Given the description of an element on the screen output the (x, y) to click on. 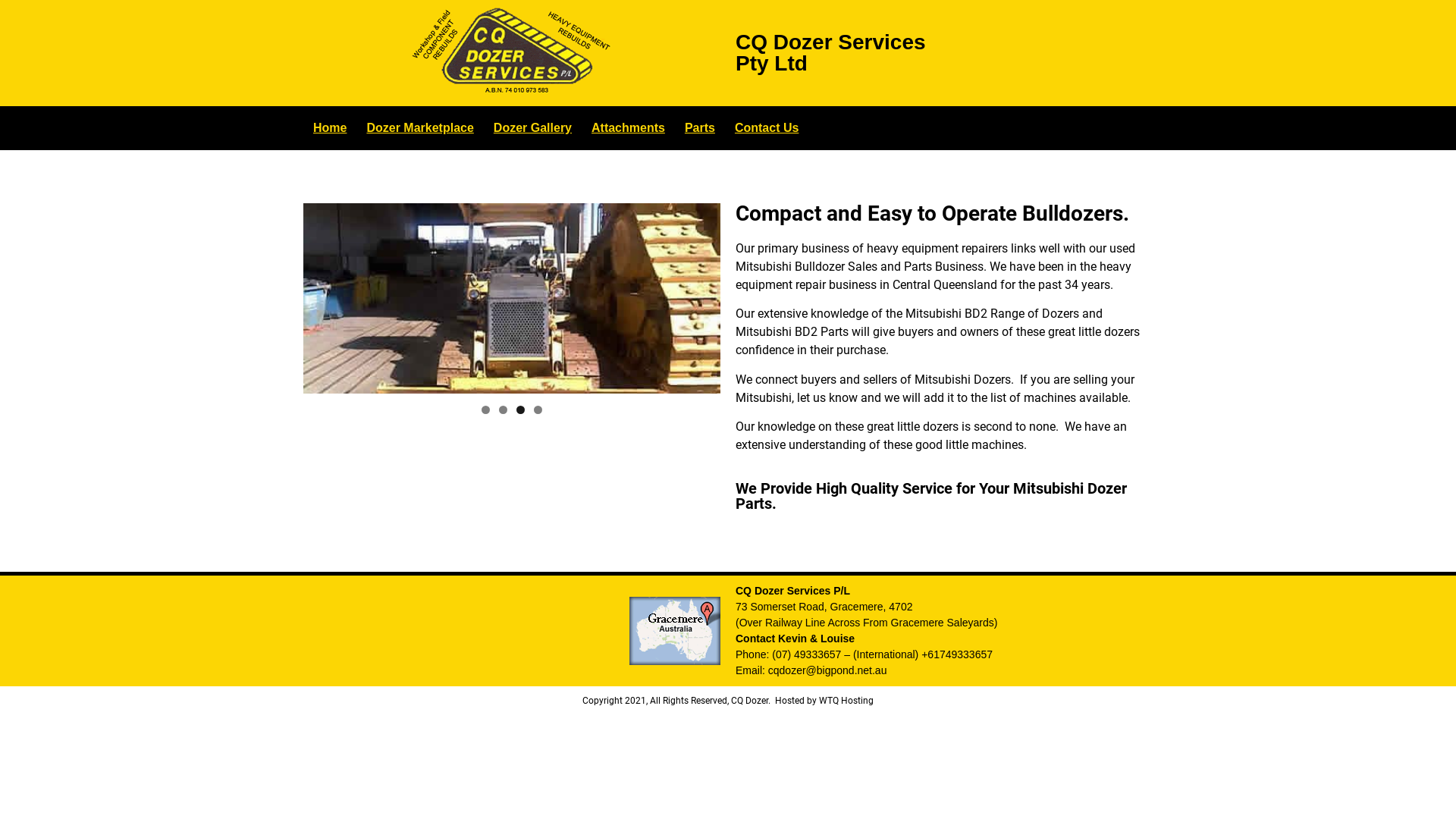
Parts Element type: text (699, 127)
4 Element type: hover (511, 298)
2 Element type: text (502, 409)
Attachments Element type: text (627, 127)
Dozer Marketplace Element type: text (419, 127)
Home Element type: text (329, 127)
WTQ Hosting Element type: text (846, 700)
4 Element type: text (537, 409)
Contact Us Element type: text (766, 127)
Dozer Gallery Element type: text (532, 127)
1 Element type: text (485, 409)
3 Element type: text (520, 409)
